Given the description of an element on the screen output the (x, y) to click on. 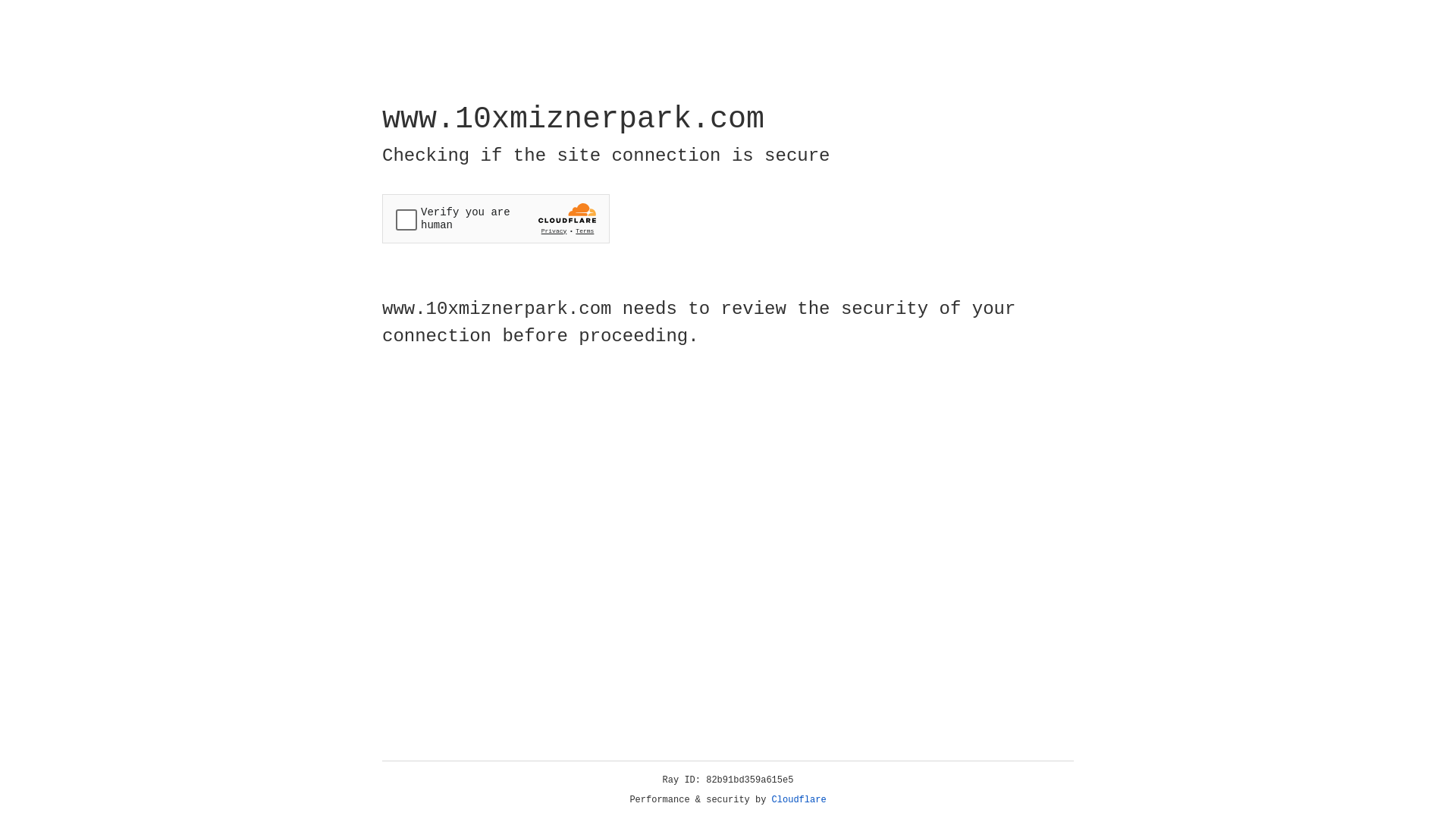
Widget containing a Cloudflare security challenge Element type: hover (495, 218)
Cloudflare Element type: text (798, 799)
